Given the description of an element on the screen output the (x, y) to click on. 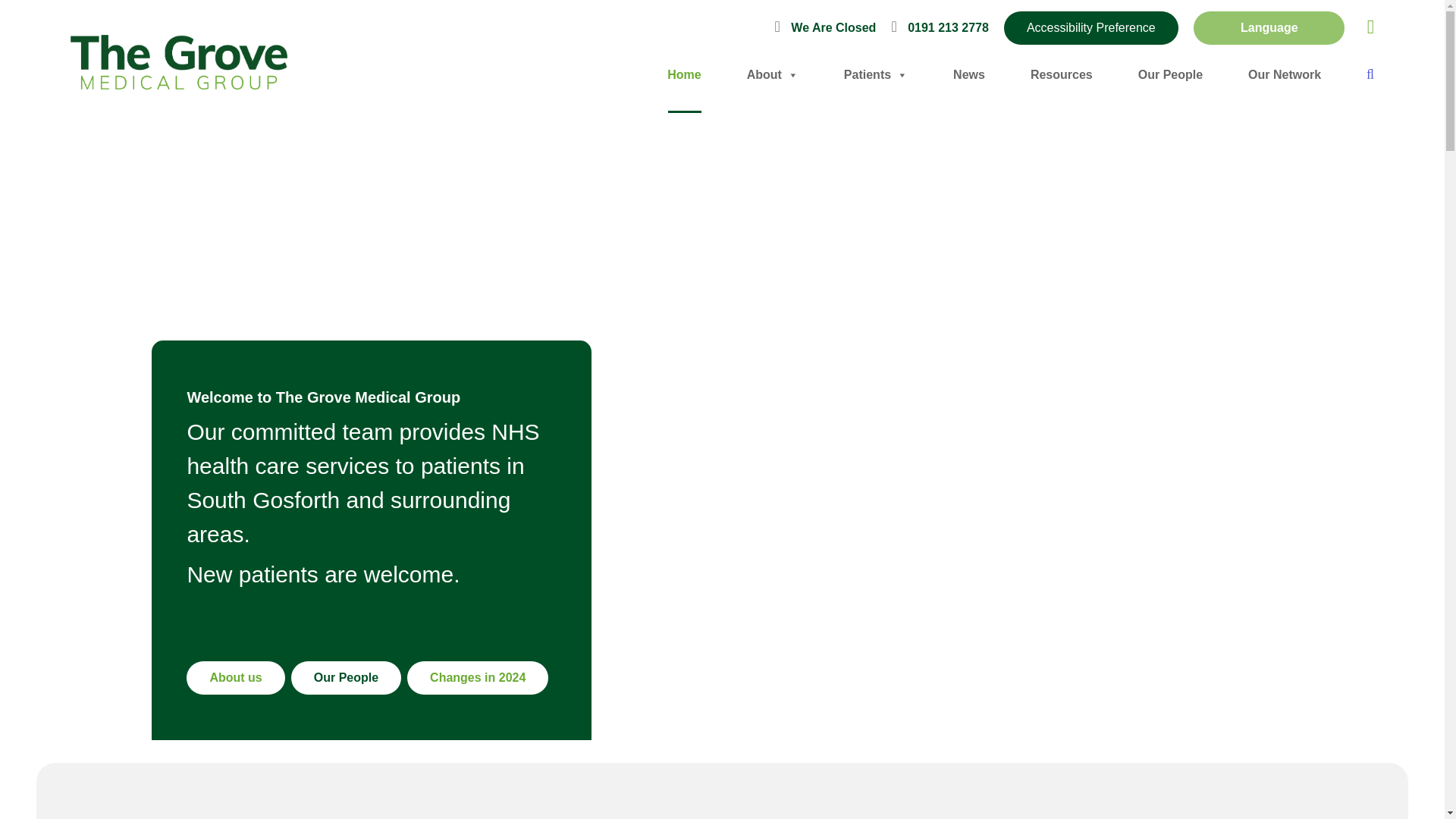
About (234, 677)
Our People (346, 677)
News (969, 74)
Call 0191 213 2778 (939, 27)
Our People (346, 677)
We Are Closed (829, 27)
Changes in 2024 (477, 677)
0191 213 2778 (939, 27)
Our People (1170, 74)
Home (683, 74)
Patients (875, 74)
About us (234, 677)
Our Network (1283, 74)
Accessibility Preference (1090, 28)
Select Language (1268, 27)
